Given the description of an element on the screen output the (x, y) to click on. 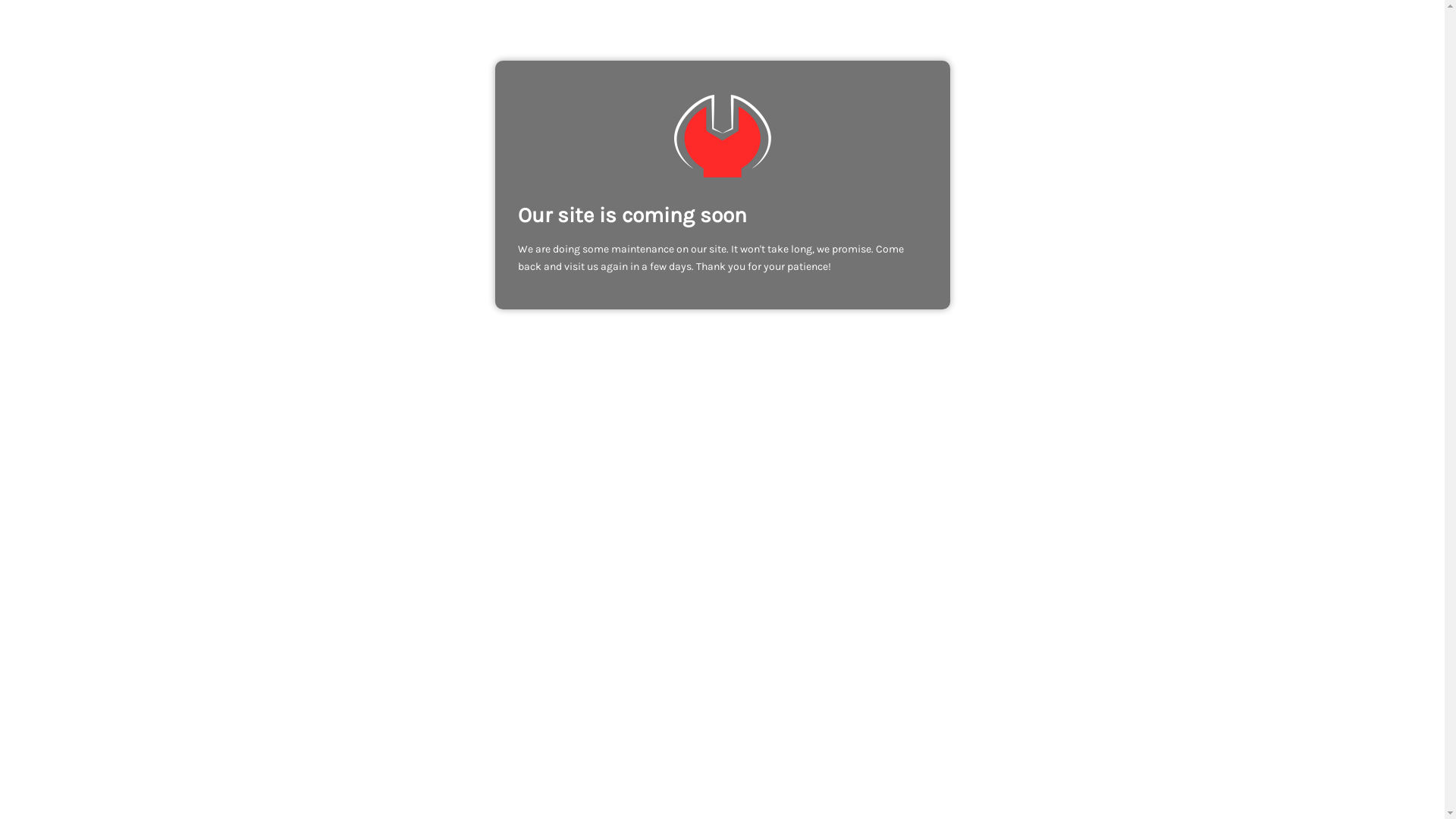
123casino.be Element type: hover (721, 135)
